Given the description of an element on the screen output the (x, y) to click on. 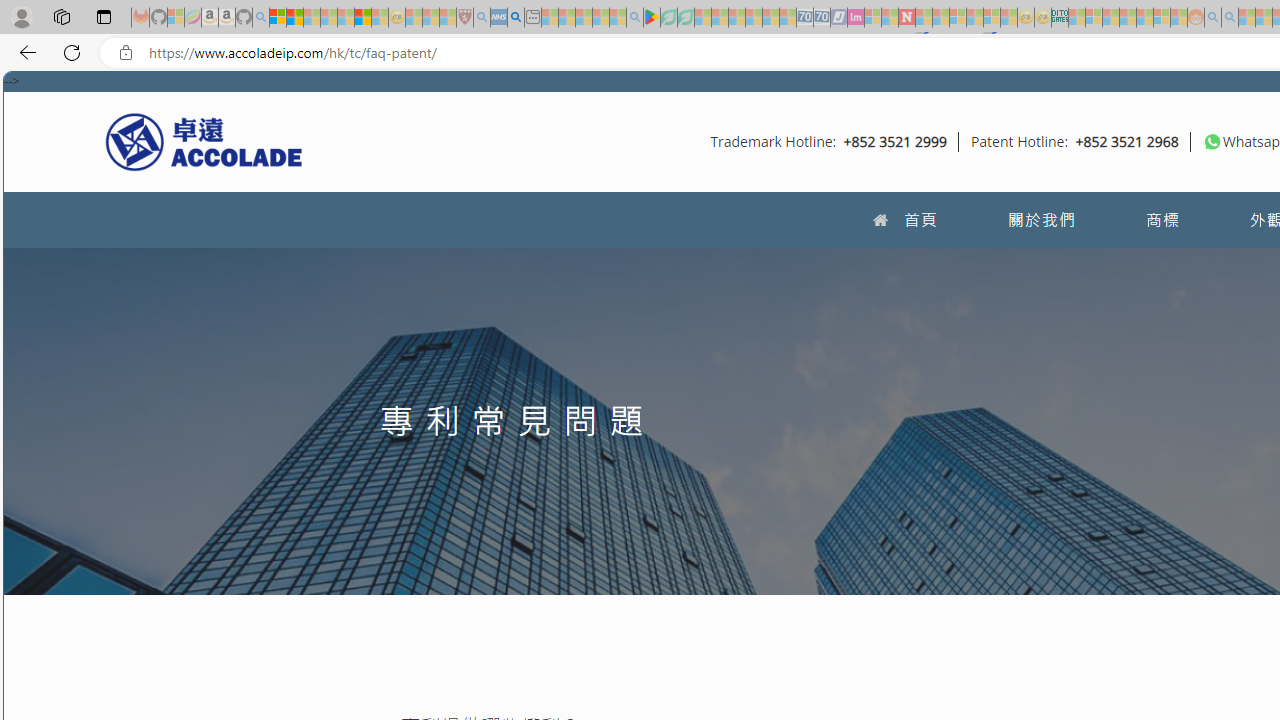
Accolade IP HK Logo (203, 141)
Bluey: Let's Play! - Apps on Google Play (651, 17)
